Given the description of an element on the screen output the (x, y) to click on. 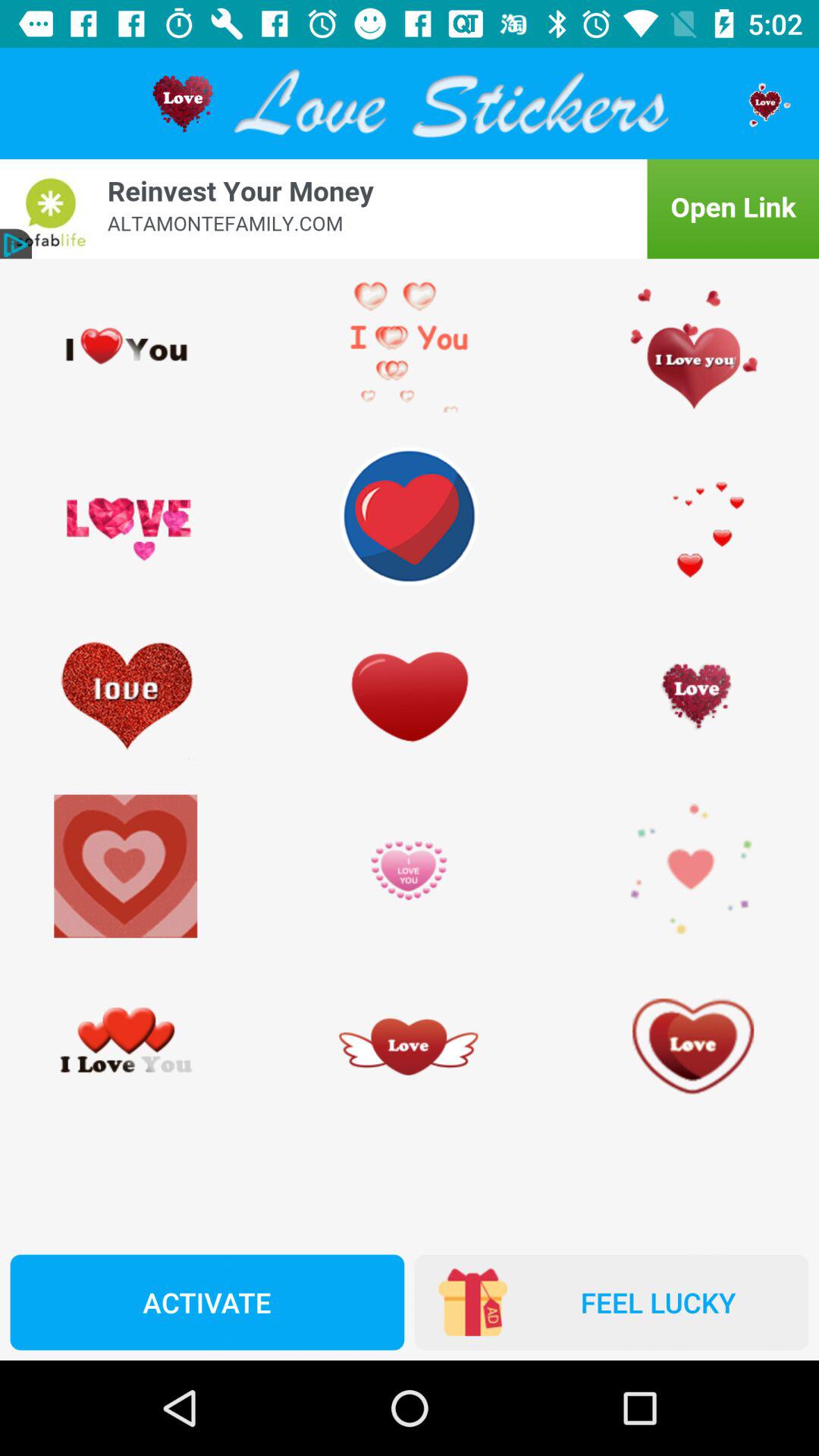
flip to the activate icon (207, 1302)
